Given the description of an element on the screen output the (x, y) to click on. 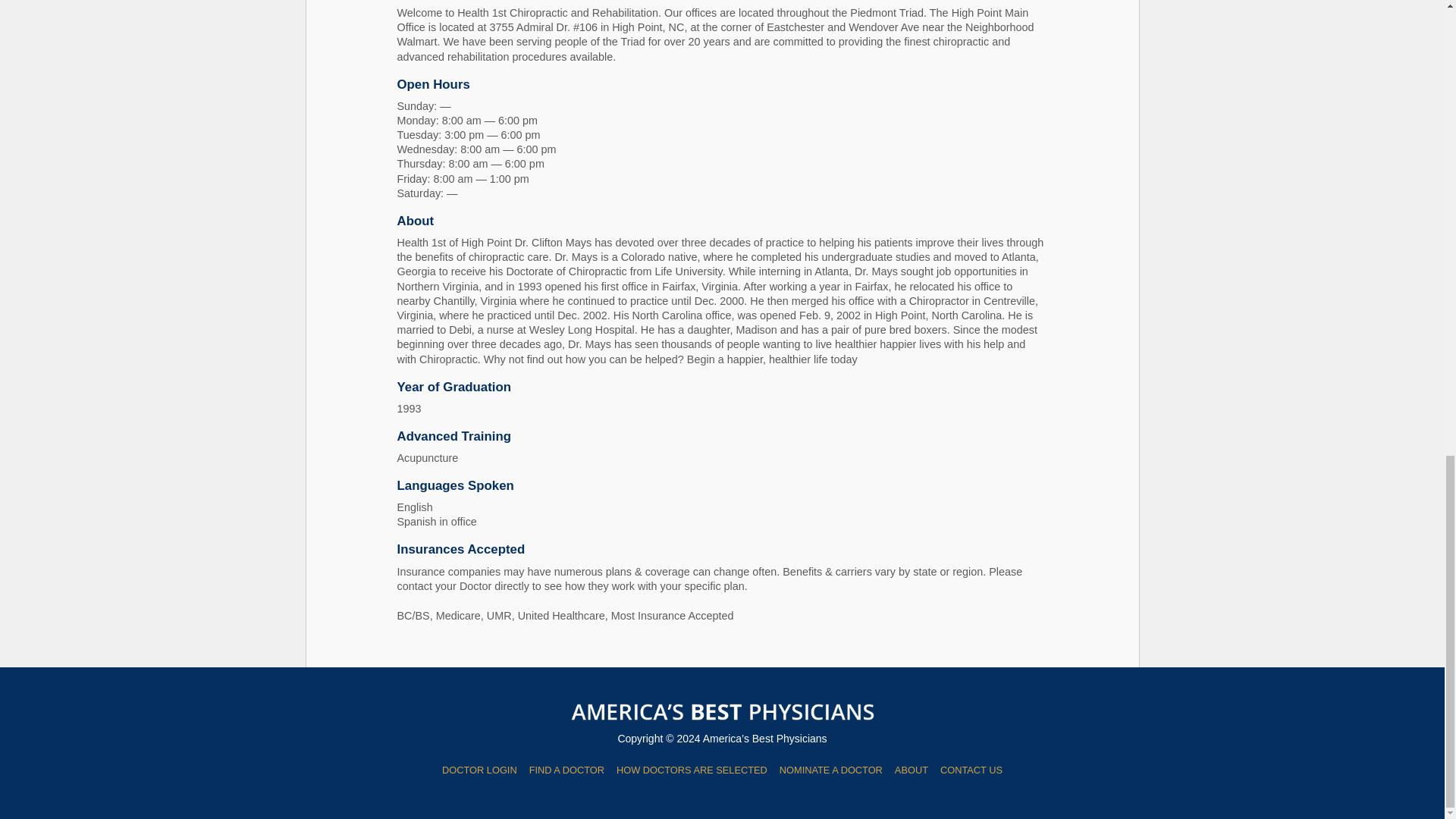
NOMINATE A DOCTOR (830, 769)
HOW DOCTORS ARE SELECTED (691, 769)
CONTACT US (971, 769)
FIND A DOCTOR (566, 769)
DOCTOR LOGIN (479, 769)
ABOUT (911, 769)
